Given the description of an element on the screen output the (x, y) to click on. 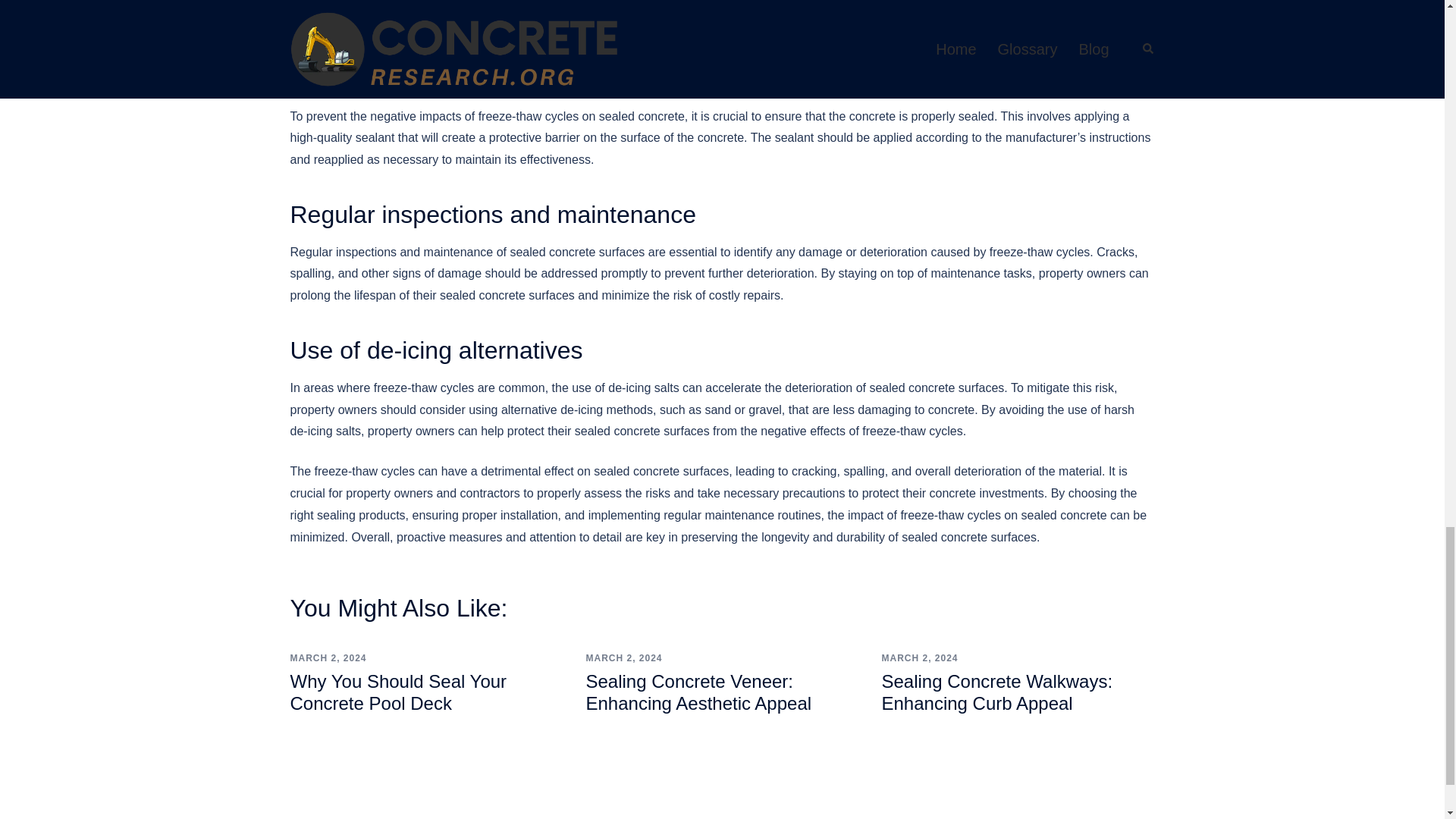
Why You Should Seal Your Concrete Pool Deck (397, 691)
MARCH 2, 2024 (623, 657)
Sealing Concrete Veneer: Enhancing Aesthetic Appeal (697, 691)
MARCH 2, 2024 (327, 657)
MARCH 2, 2024 (919, 657)
Sealing Concrete Walkways: Enhancing Curb Appeal (996, 691)
